Given the description of an element on the screen output the (x, y) to click on. 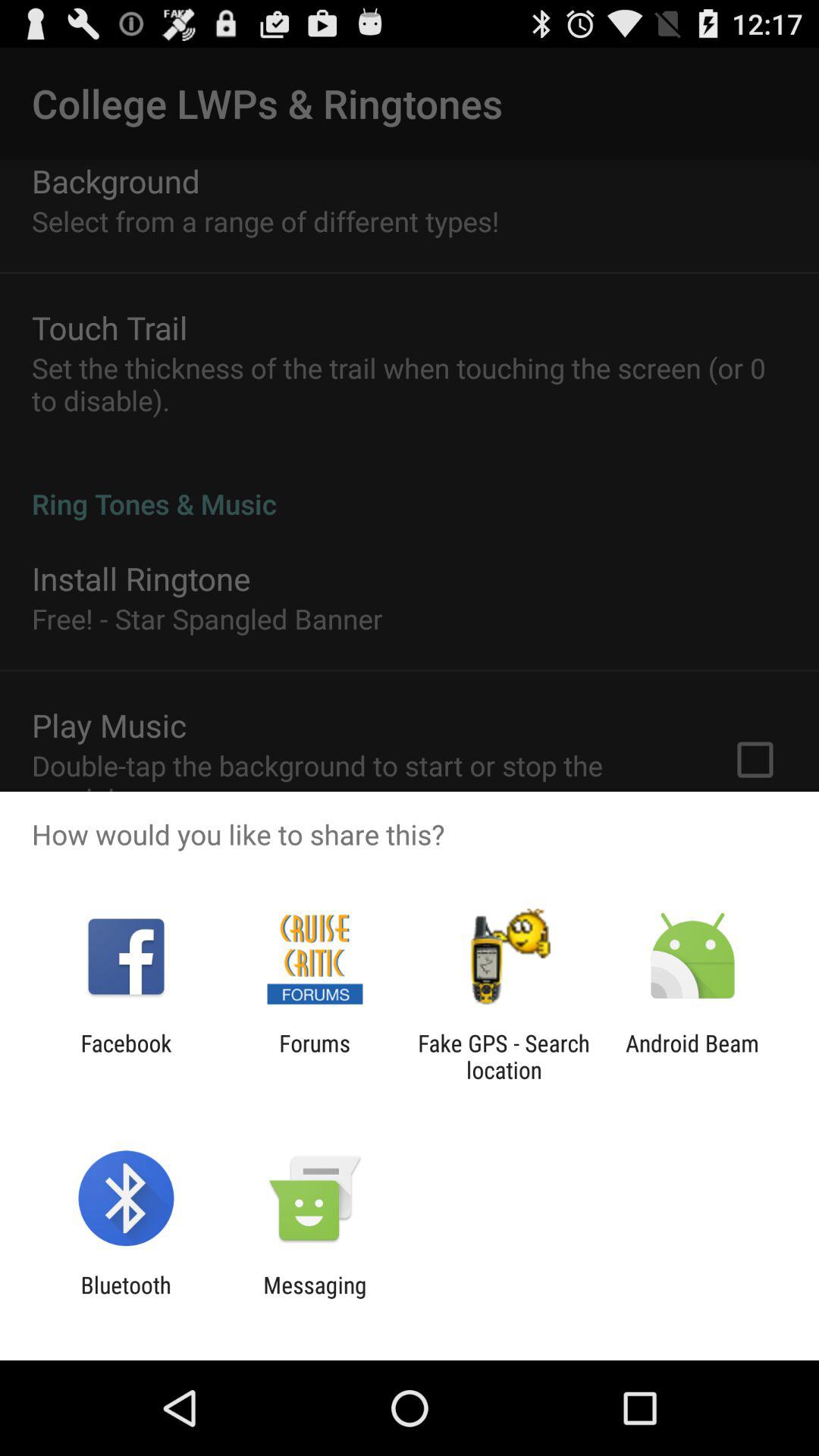
tap the icon to the left of the android beam (503, 1056)
